Given the description of an element on the screen output the (x, y) to click on. 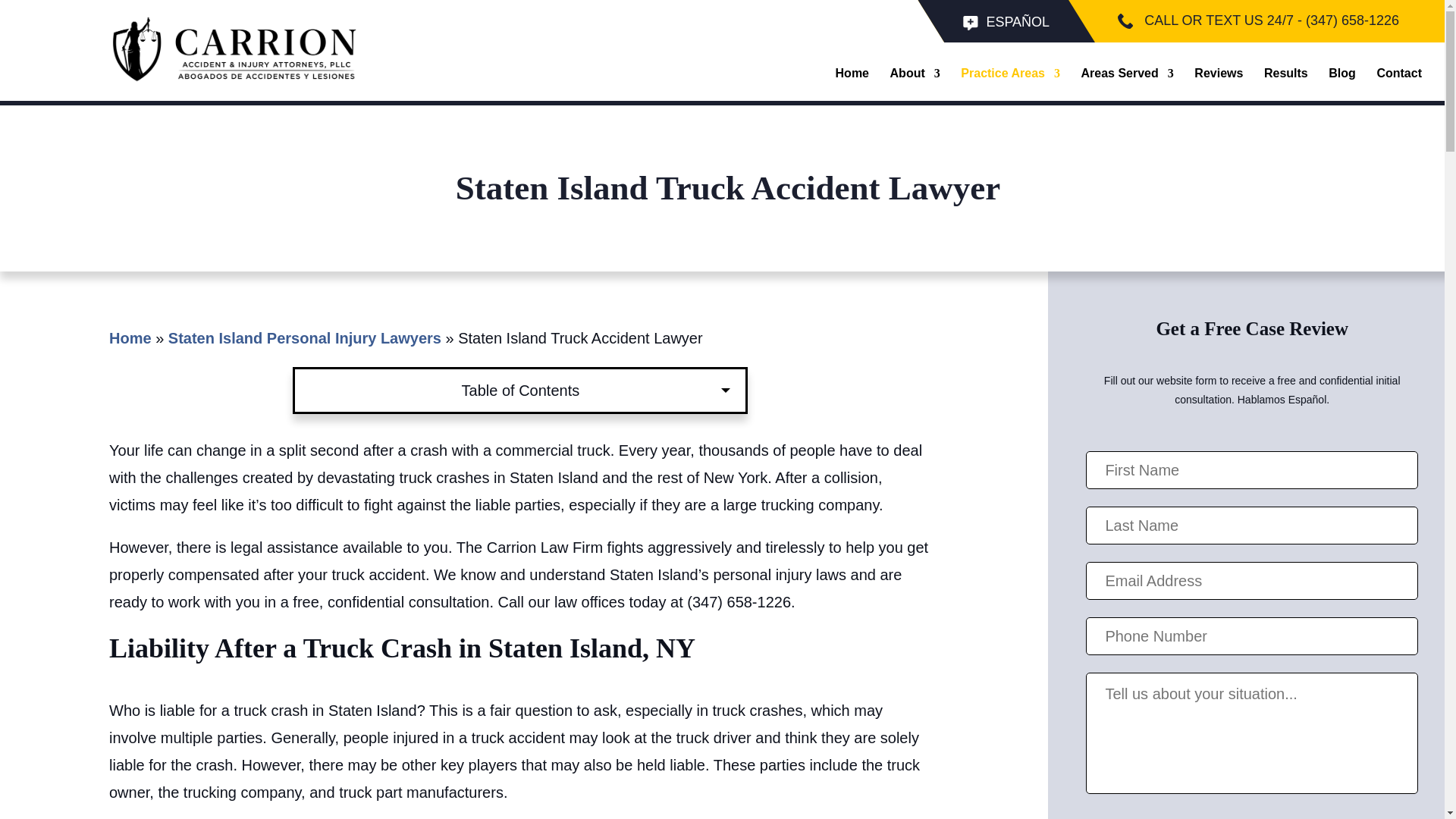
Home (852, 76)
Practice Areas (1009, 76)
About (914, 76)
